Given the description of an element on the screen output the (x, y) to click on. 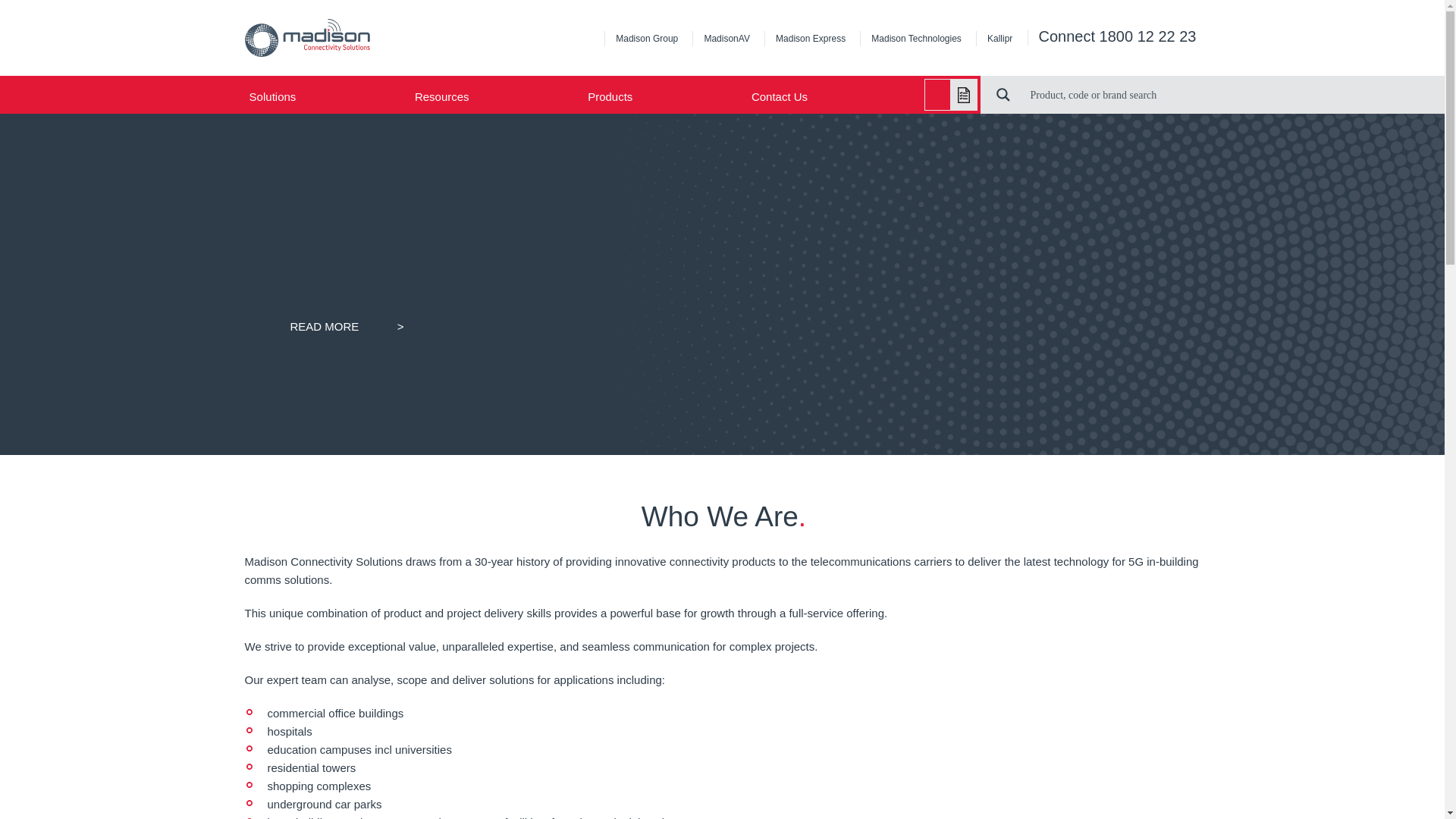
Madison Group (646, 38)
Connect 1800 12 22 23 (1117, 36)
Madison Express (810, 38)
READ MORE (346, 325)
Contact Us (825, 96)
Products (655, 96)
MadisonAV (726, 38)
Madison Connectivity Solutions (357, 37)
Solutions (318, 96)
Resources (486, 96)
Madison Technologies (916, 38)
